Given the description of an element on the screen output the (x, y) to click on. 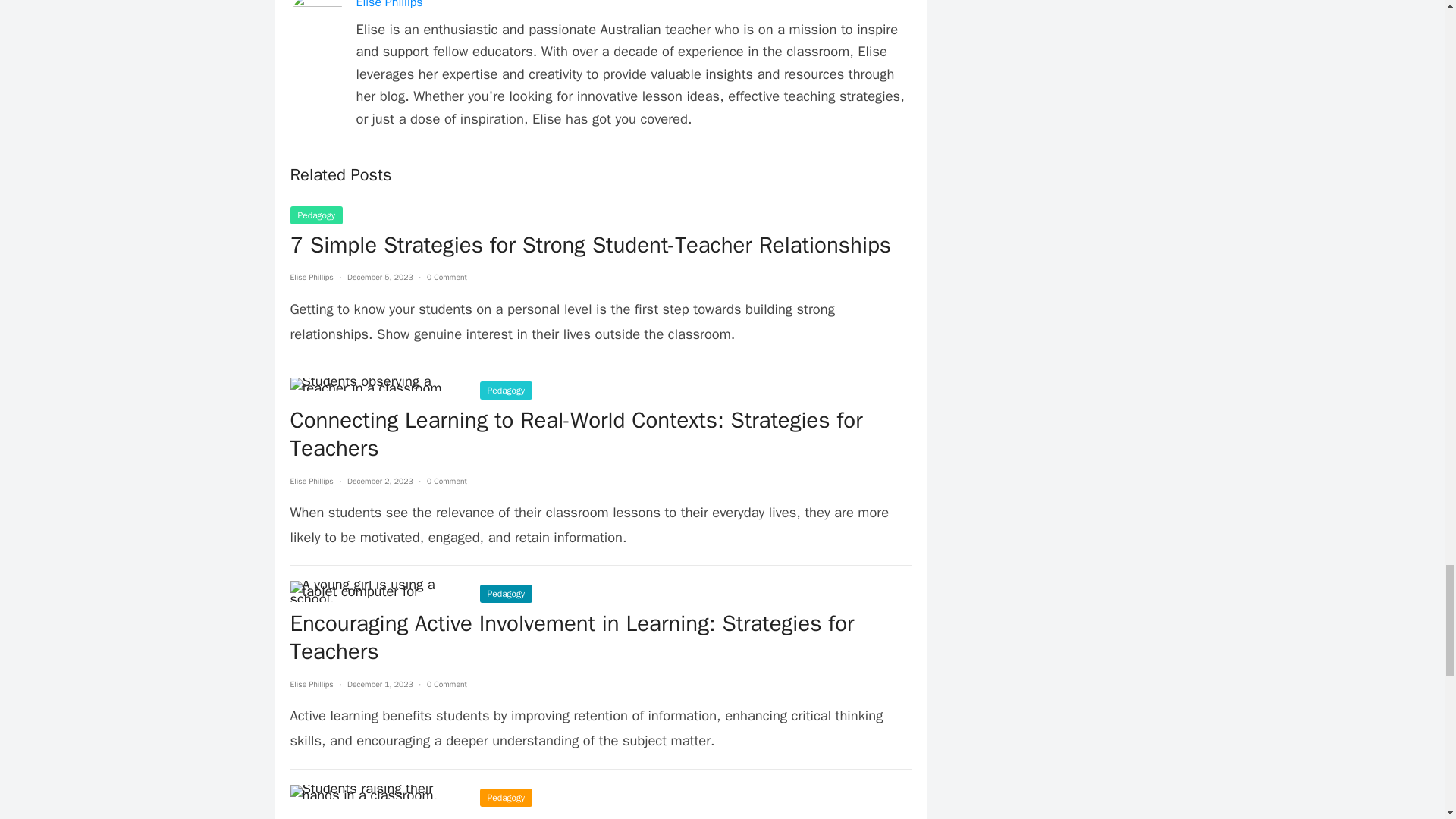
Elise Phillips (389, 4)
Posts by Elise Phillips (311, 480)
Posts by Elise Phillips (311, 276)
Pedagogy (315, 215)
Posts by Elise Phillips (311, 684)
